Given the description of an element on the screen output the (x, y) to click on. 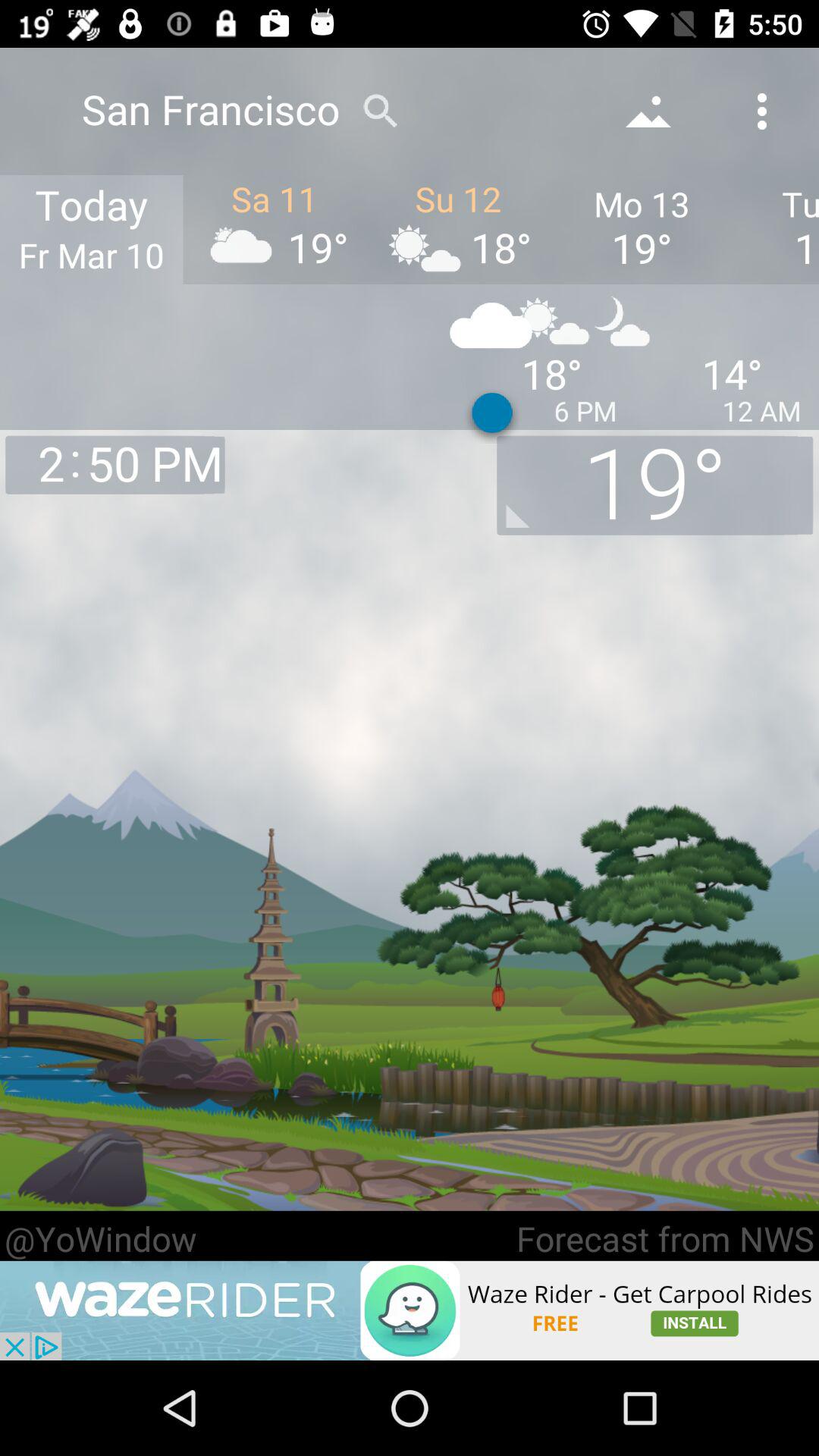
opens advertisement (409, 1310)
